Given the description of an element on the screen output the (x, y) to click on. 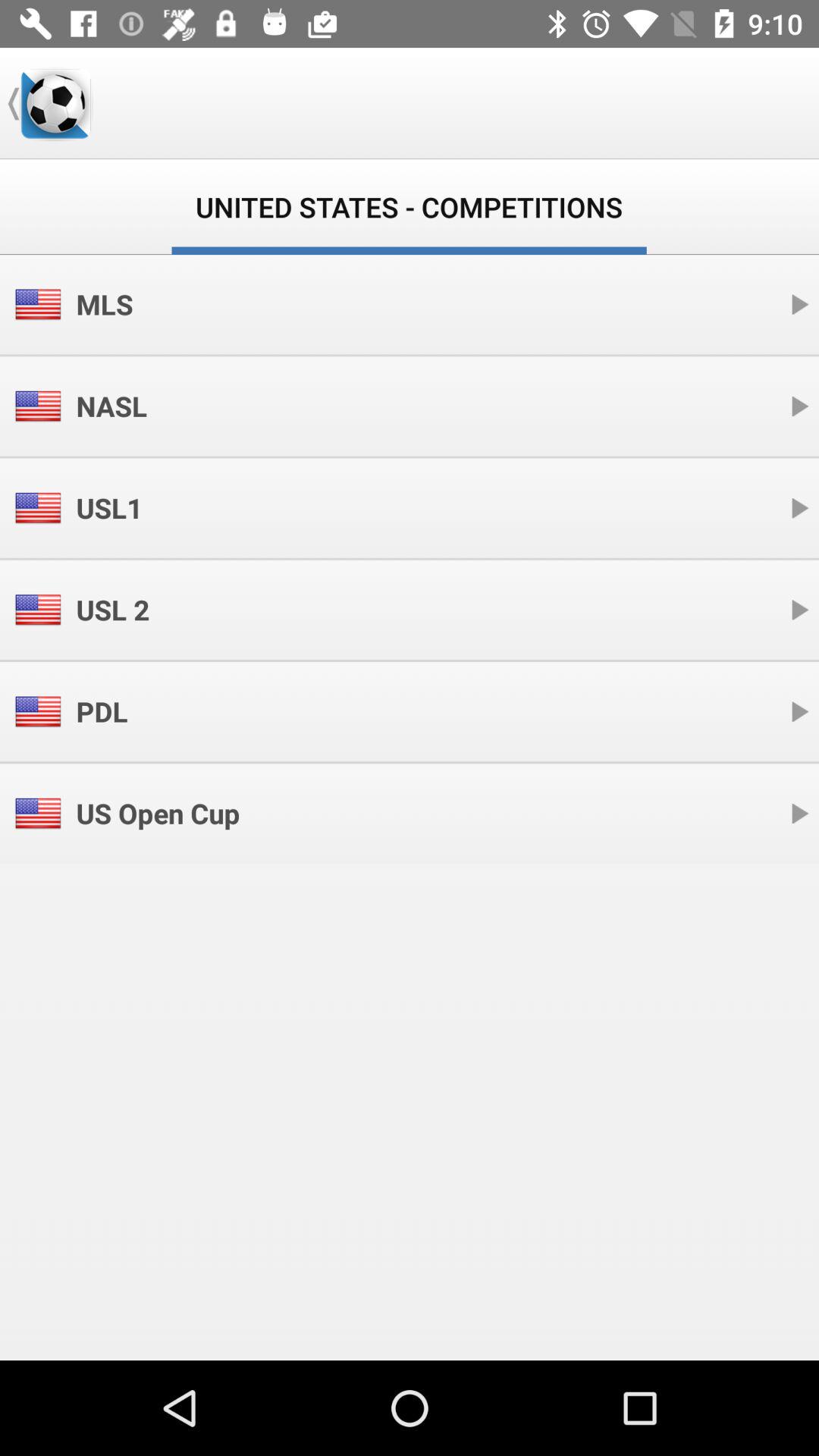
press item below the mls icon (111, 406)
